Given the description of an element on the screen output the (x, y) to click on. 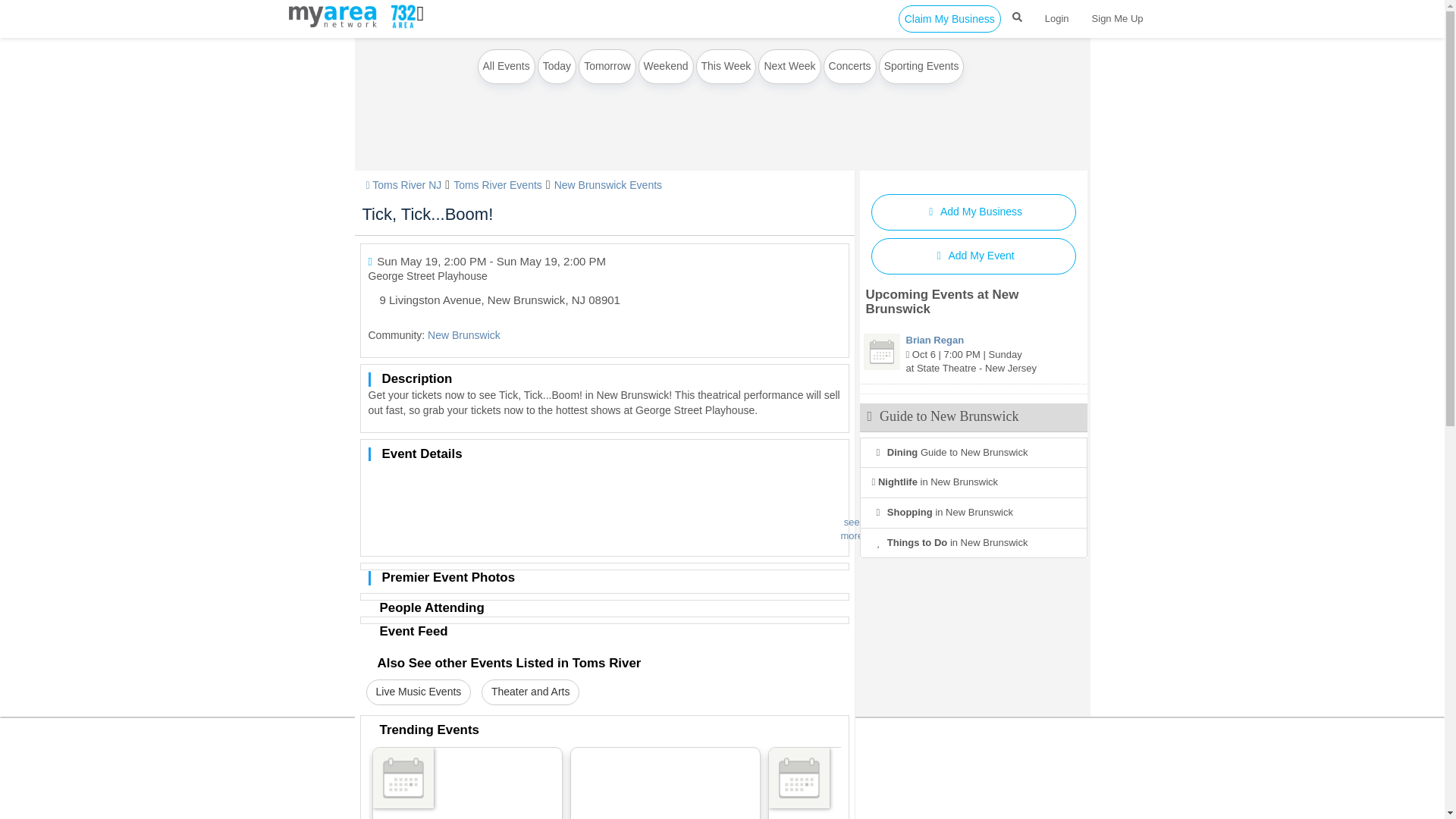
Toms River Events (496, 184)
Theater and Arts (530, 692)
Next Week (789, 66)
Claim My Business (949, 18)
Concerts (850, 66)
Toms River NJ (403, 184)
Tick, Tick...Boom! (427, 213)
All Events (506, 66)
Tomorrow (606, 66)
Login (1056, 18)
Sign Me Up (1117, 18)
New Brunswick Events (608, 184)
Today (556, 66)
Tomorrow (606, 66)
Login (1056, 18)
